Given the description of an element on the screen output the (x, y) to click on. 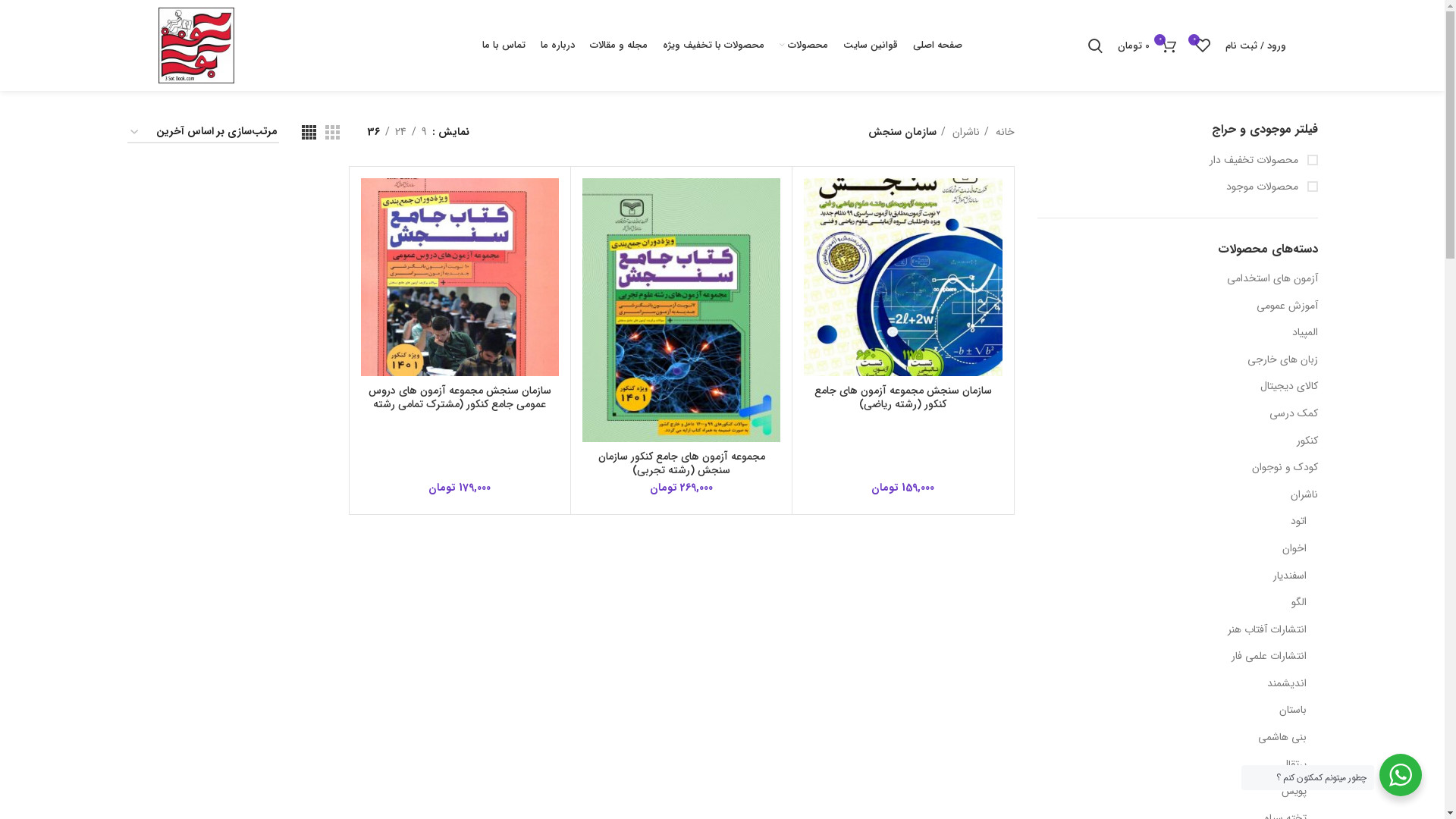
24 Element type: text (400, 131)
36 Element type: text (373, 131)
9 Element type: text (423, 131)
0 Element type: text (1202, 45)
